Given the description of an element on the screen output the (x, y) to click on. 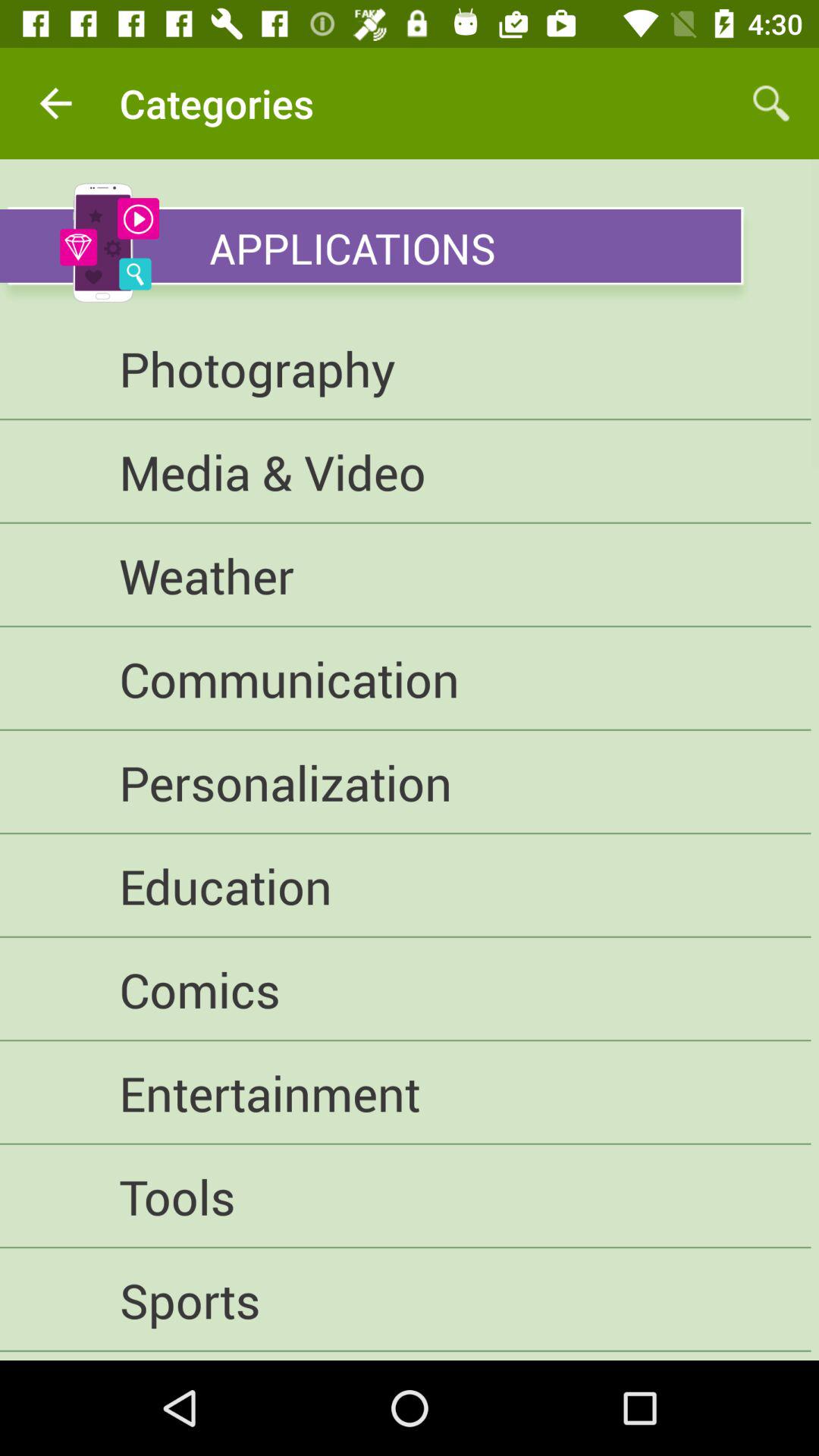
select the item below the personalization icon (405, 885)
